Given the description of an element on the screen output the (x, y) to click on. 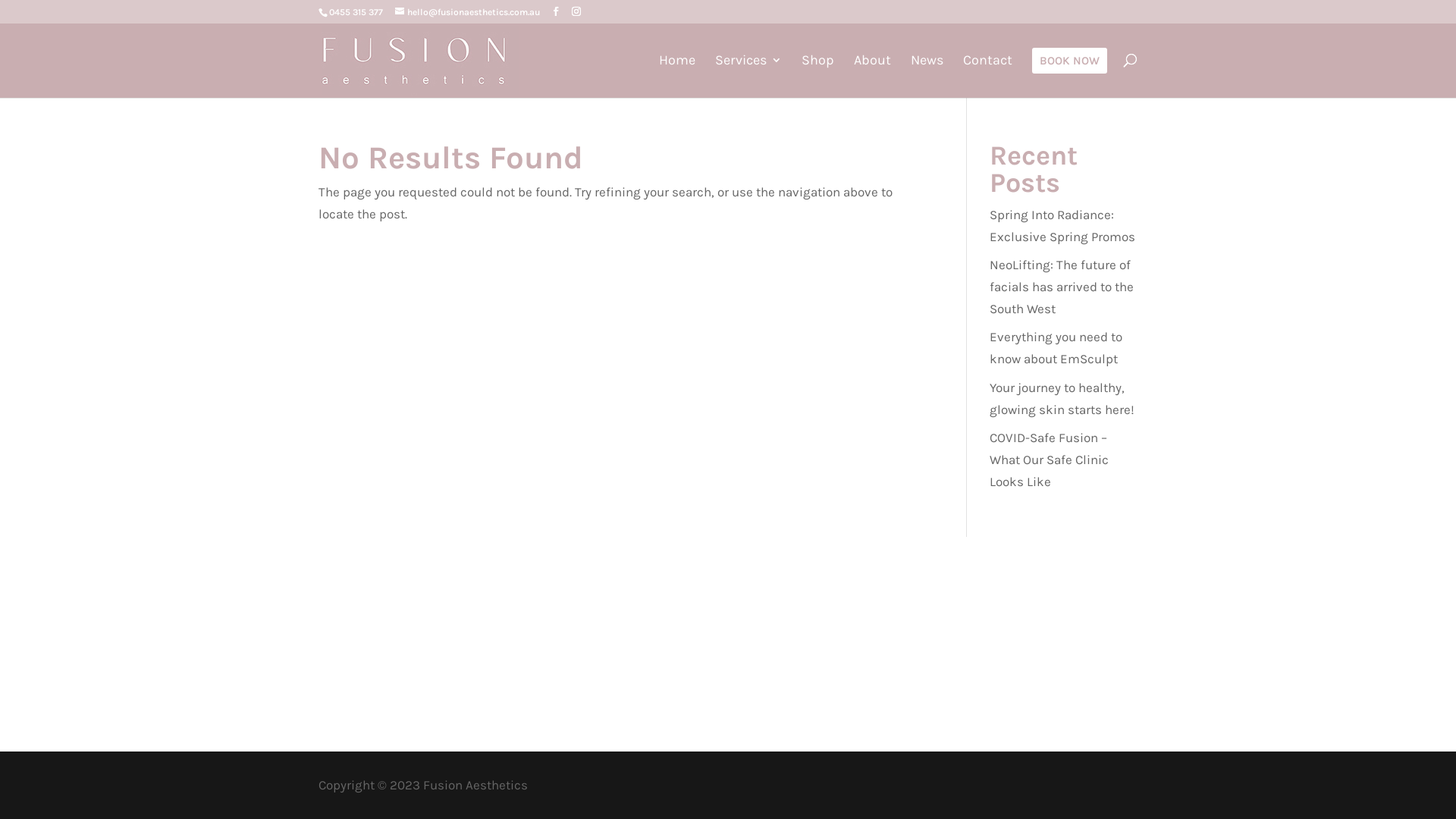
Spring Into Radiance: Exclusive Spring Promos Element type: text (1062, 225)
BOOK NOW Element type: text (1069, 72)
About Element type: text (872, 74)
Contact Element type: text (987, 74)
Home Element type: text (676, 74)
Your journey to healthy, glowing skin starts here! Element type: text (1061, 398)
Everything you need to know about EmSculpt Element type: text (1055, 347)
Shop Element type: text (817, 74)
News Element type: text (926, 74)
hello@fusionaesthetics.com.au Element type: text (467, 11)
Services Element type: text (748, 74)
